Given the description of an element on the screen output the (x, y) to click on. 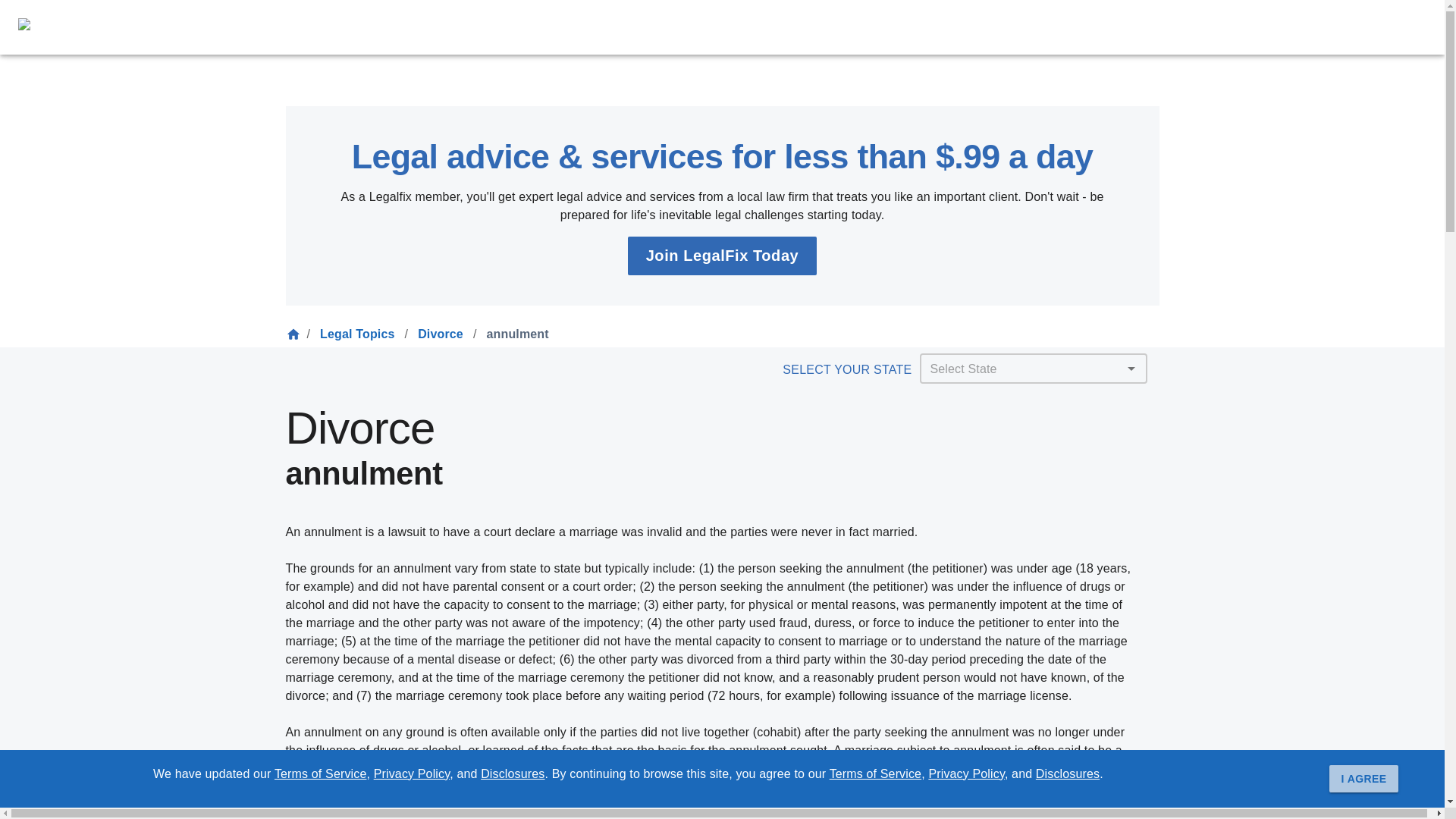
Open (1131, 368)
annulment (517, 333)
Join LegalFix Today (721, 255)
Legal Topics (357, 333)
Divorce (440, 333)
